Given the description of an element on the screen output the (x, y) to click on. 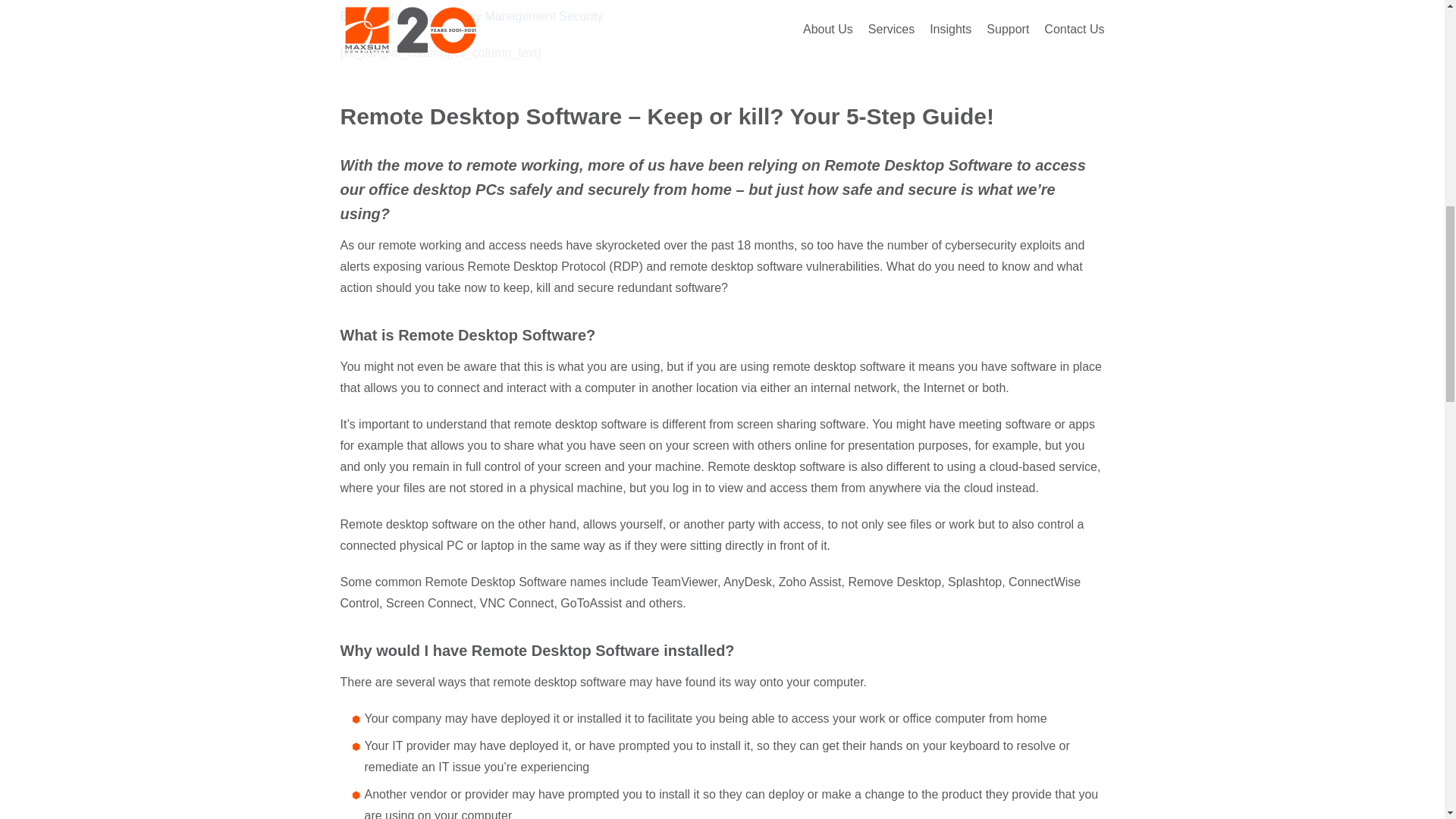
Security (580, 15)
Blog (351, 15)
Business Technology Management (462, 15)
